Given the description of an element on the screen output the (x, y) to click on. 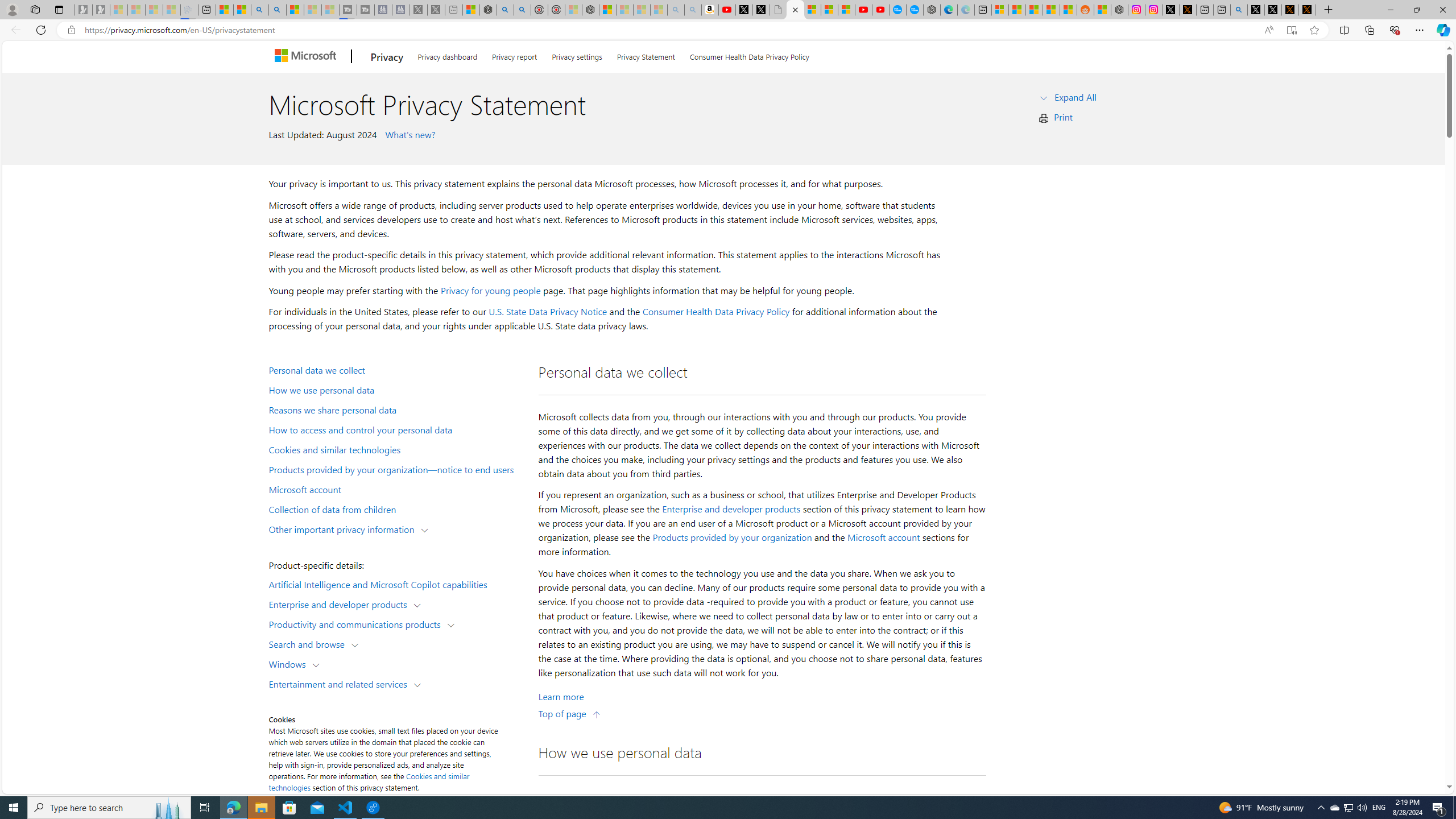
 What's new? (408, 133)
How to access and control your personal data (395, 428)
How we use personal data (395, 389)
Cookies and similar technologies (395, 449)
Enter Immersive Reader (F9) (1291, 29)
Shanghai, China hourly forecast | Microsoft Weather (1034, 9)
